Given the description of an element on the screen output the (x, y) to click on. 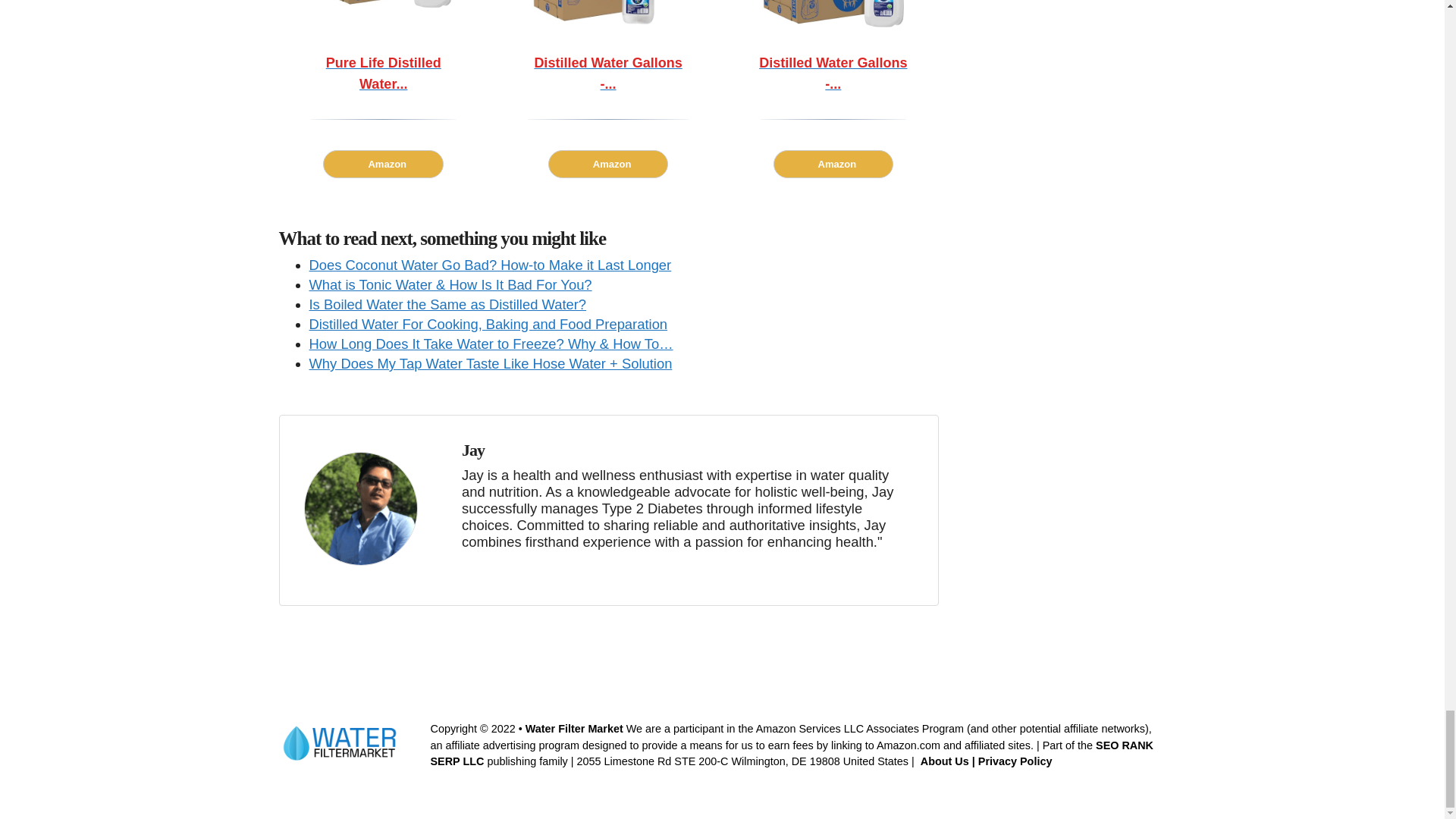
 Amazon (383, 163)
jayheadshot1 (359, 508)
 Amazon (833, 163)
 Amazon (608, 163)
